Given the description of an element on the screen output the (x, y) to click on. 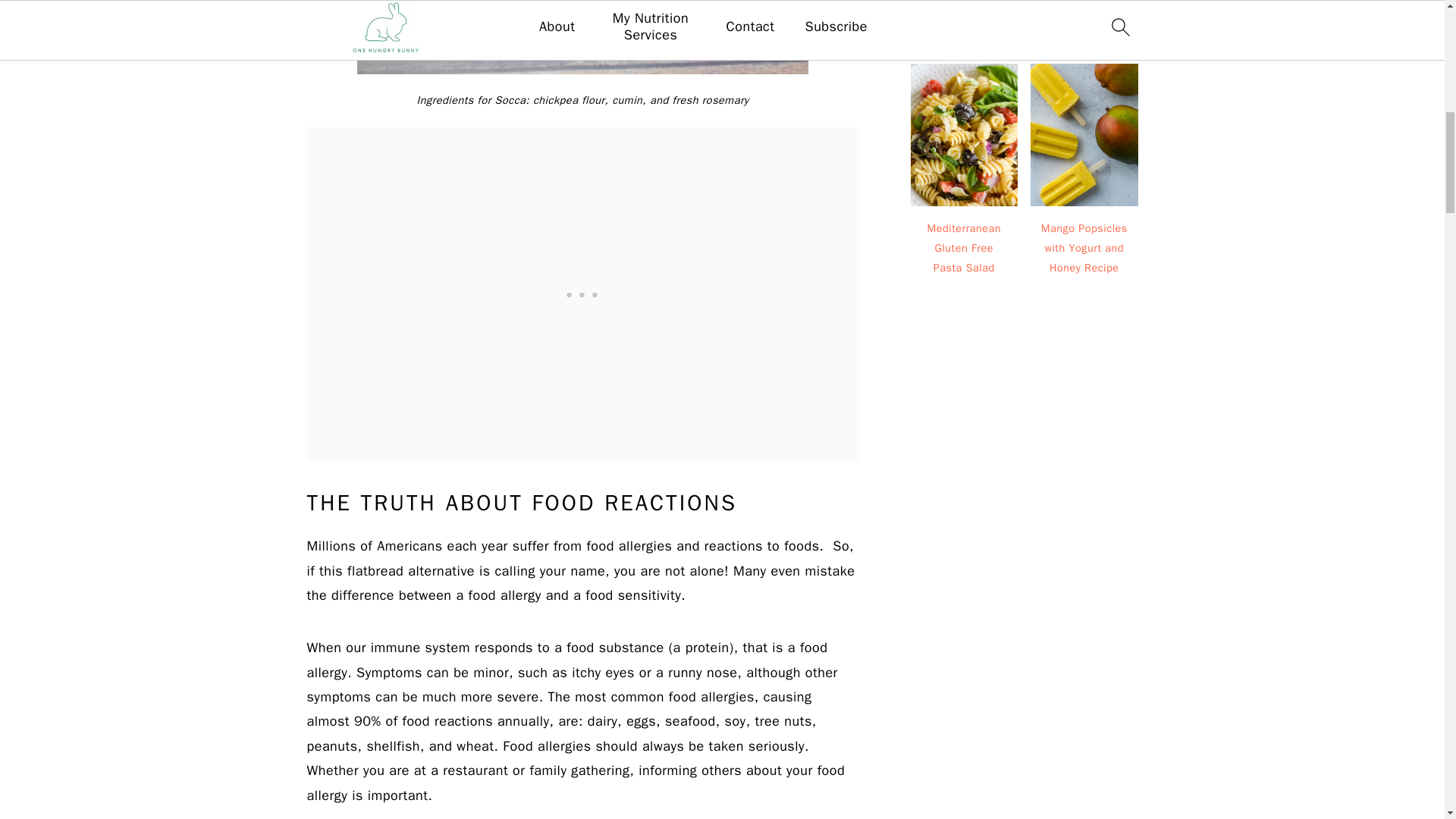
Honey Herb Citrus Dressing Recipe (963, 10)
dukkah (582, 37)
